Given the description of an element on the screen output the (x, y) to click on. 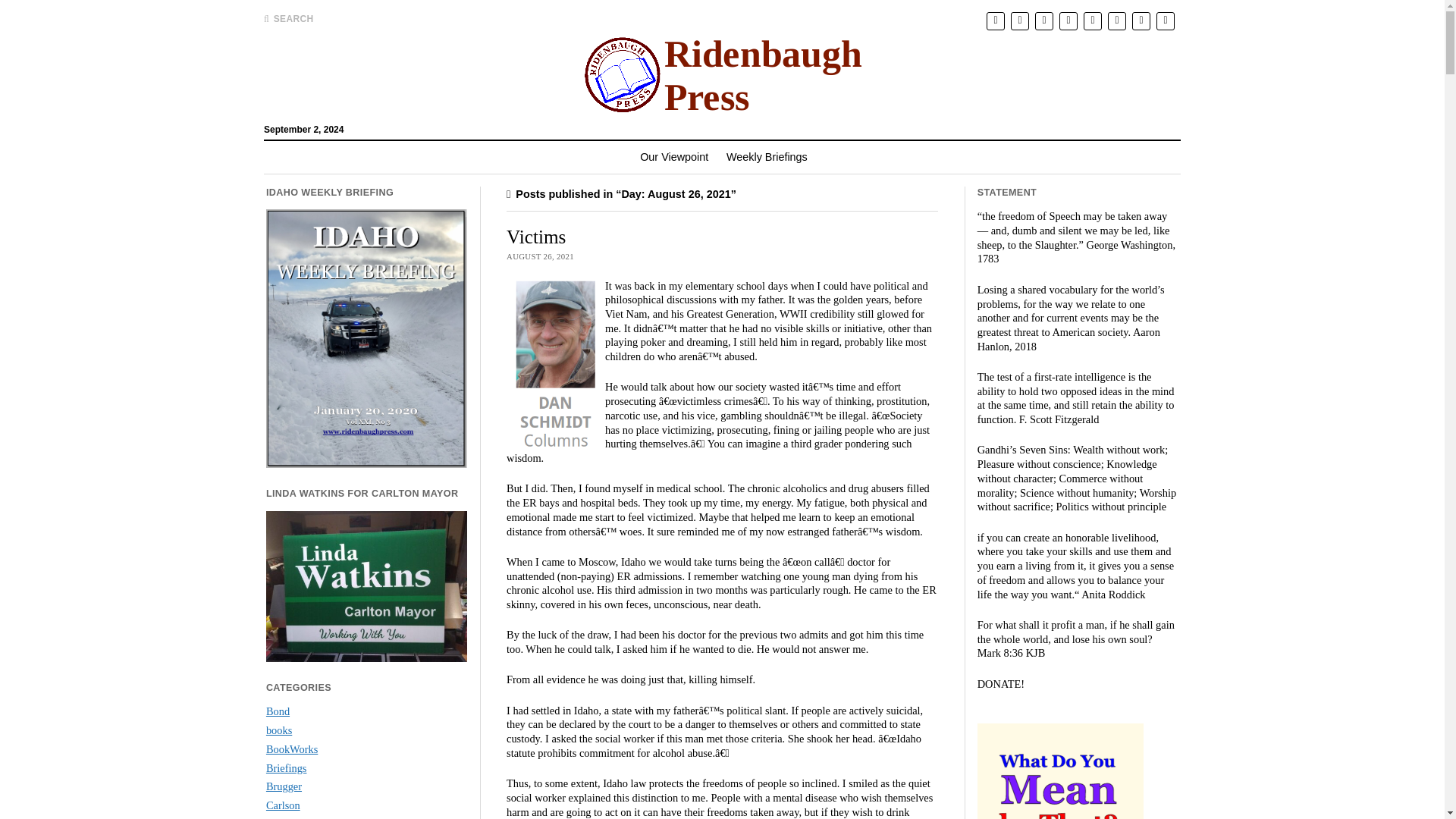
Our Viewpoint (673, 156)
Bond (277, 711)
Carlson (282, 805)
Search (946, 120)
books (279, 729)
Brugger (283, 786)
Weekly Briefings (766, 156)
Briefings (286, 767)
SEARCH (288, 18)
